Given the description of an element on the screen output the (x, y) to click on. 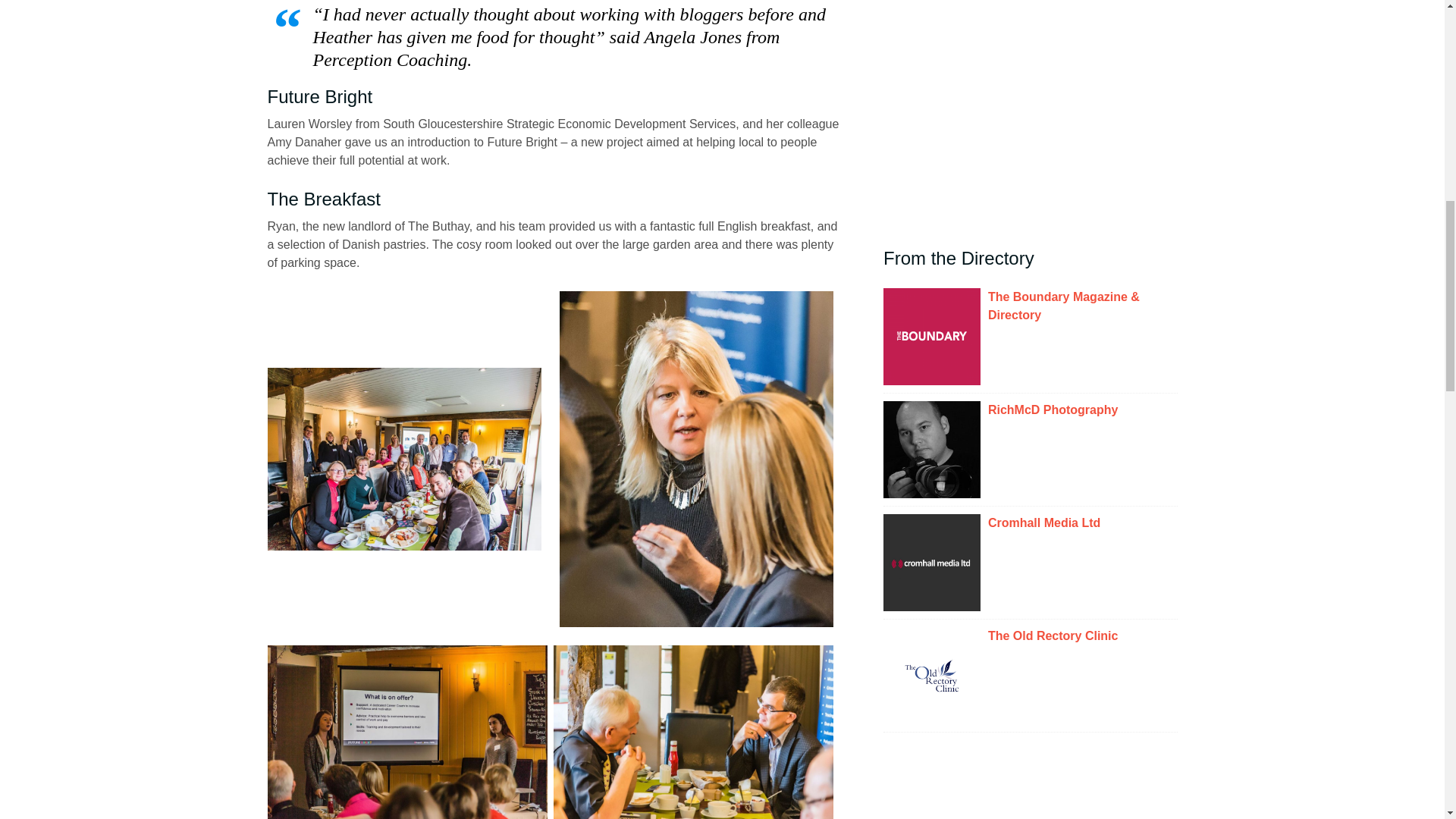
Cromhall Media Ltd (1082, 523)
The Old Rectory Clinic (1082, 636)
RichMcD Photography (1082, 410)
